Given the description of an element on the screen output the (x, y) to click on. 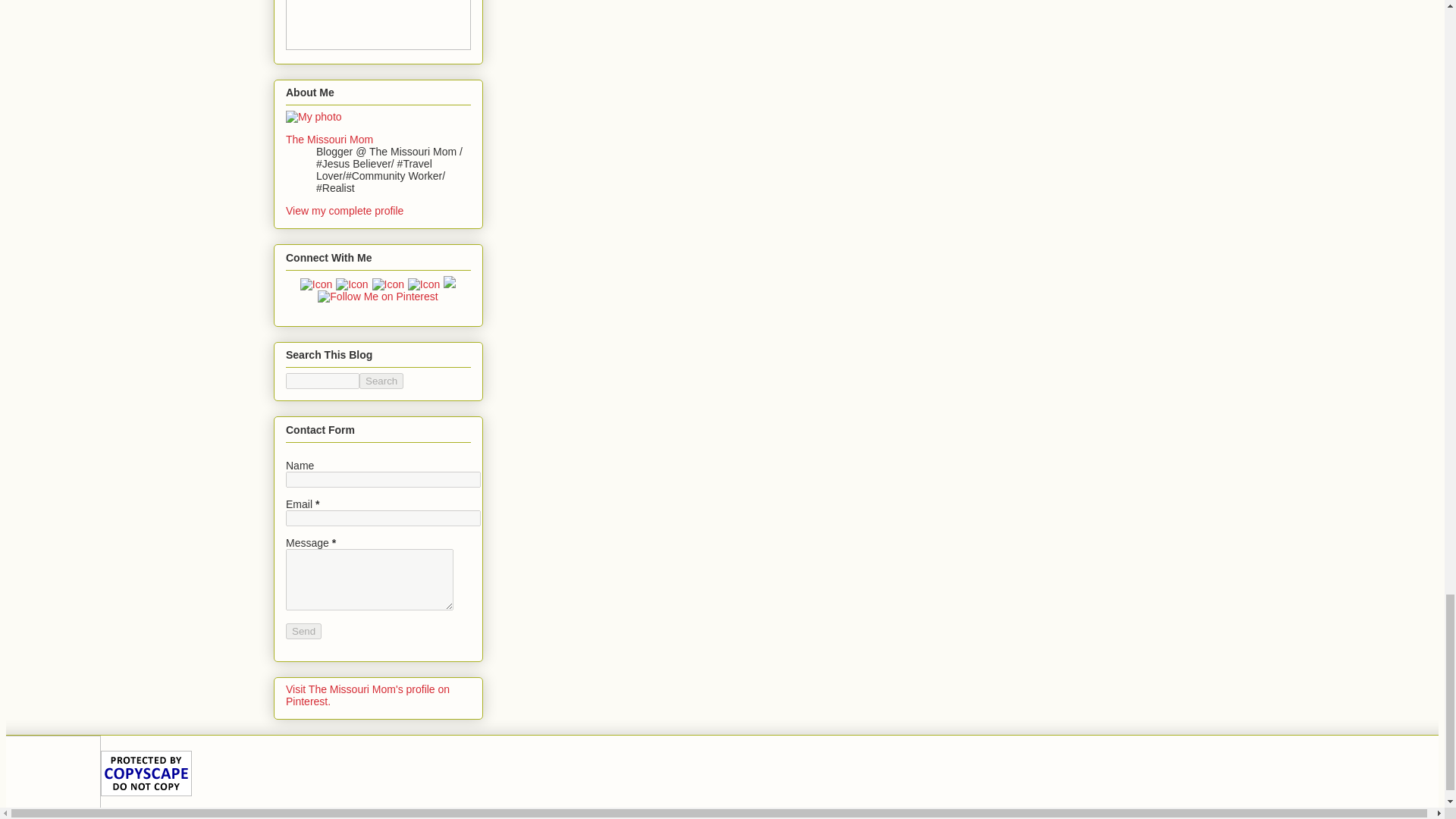
Search (381, 381)
View my complete profile (344, 210)
Get Free Updates Via Email (352, 284)
Follow Our Updates On Twitter (424, 284)
Send (303, 631)
Grab Our Rss Feed (316, 284)
Search (381, 381)
The Missouri Mom (328, 139)
Like Our Facebook Page (387, 284)
